Given the description of an element on the screen output the (x, y) to click on. 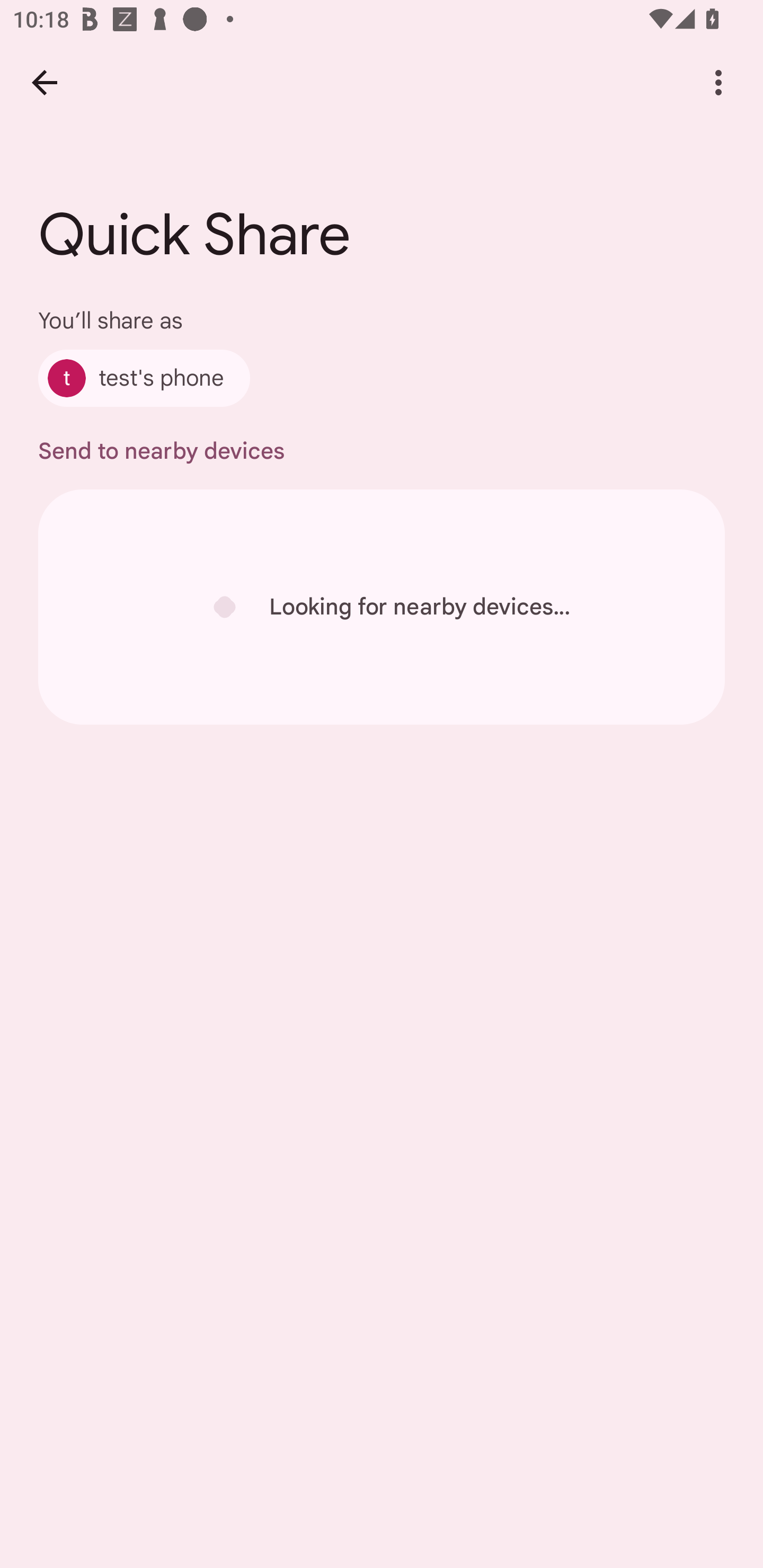
Back (44, 81)
More (718, 81)
test's phone (144, 378)
